Given the description of an element on the screen output the (x, y) to click on. 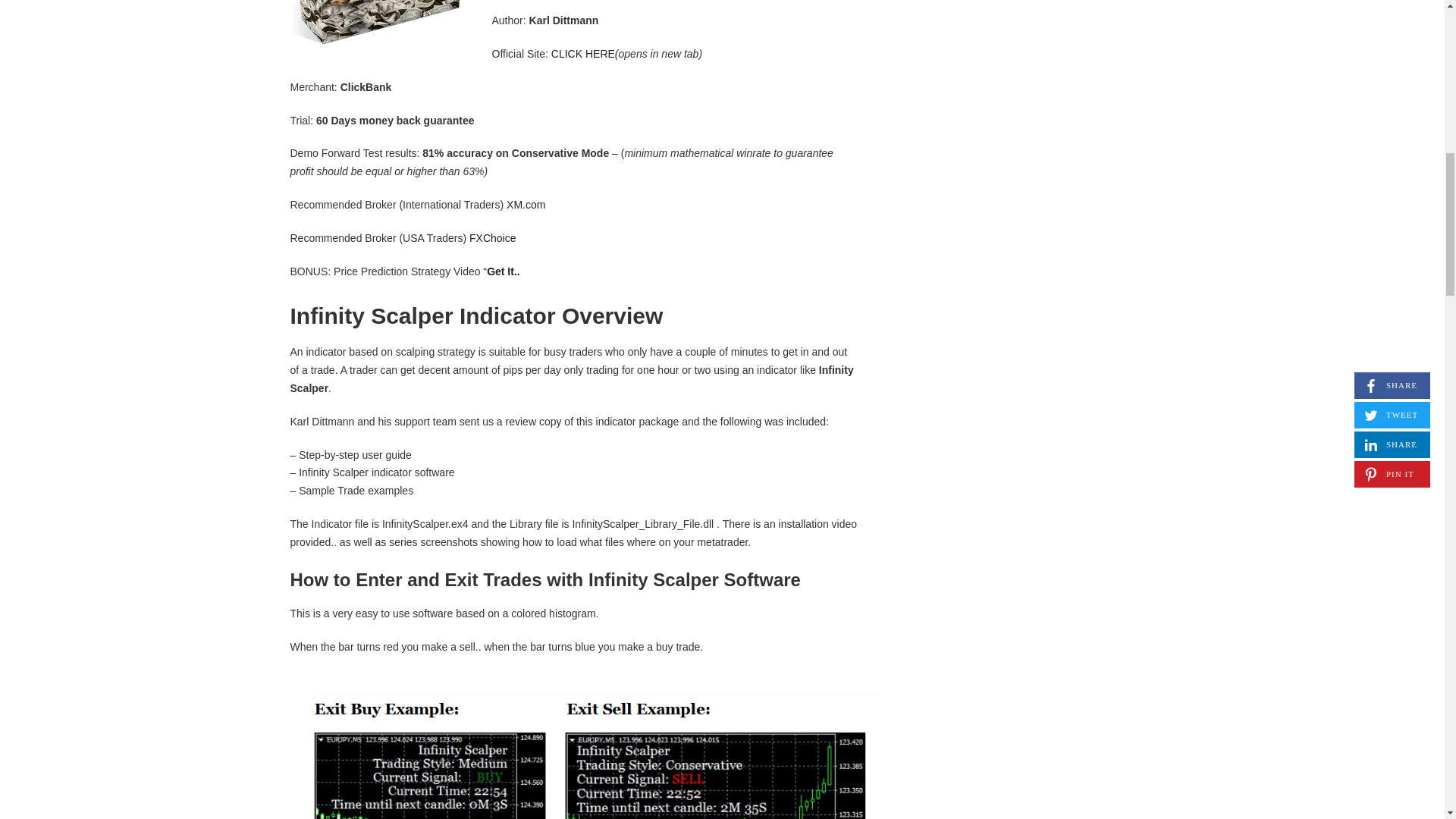
CLICK HERE (582, 53)
FXChoice (491, 237)
Get It.. (502, 271)
XM.com (525, 204)
